Given the description of an element on the screen output the (x, y) to click on. 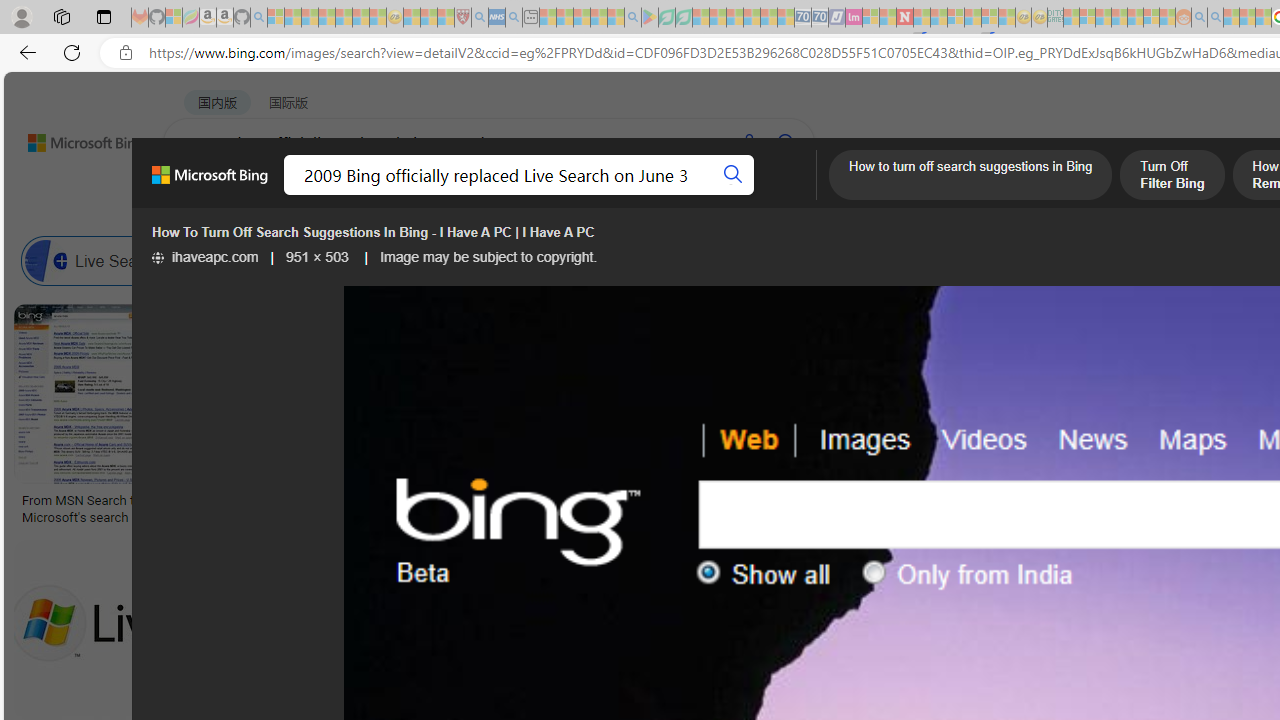
ACADEMIC (635, 195)
Turn Off Filter Bing (1171, 177)
Bing Picture Search Engine (492, 260)
Bing Logo Design Evolution 2009 to 2016 | Smithographic (1031, 507)
Microsoft Live Logo (598, 500)
Live Search (45, 260)
